Given the description of an element on the screen output the (x, y) to click on. 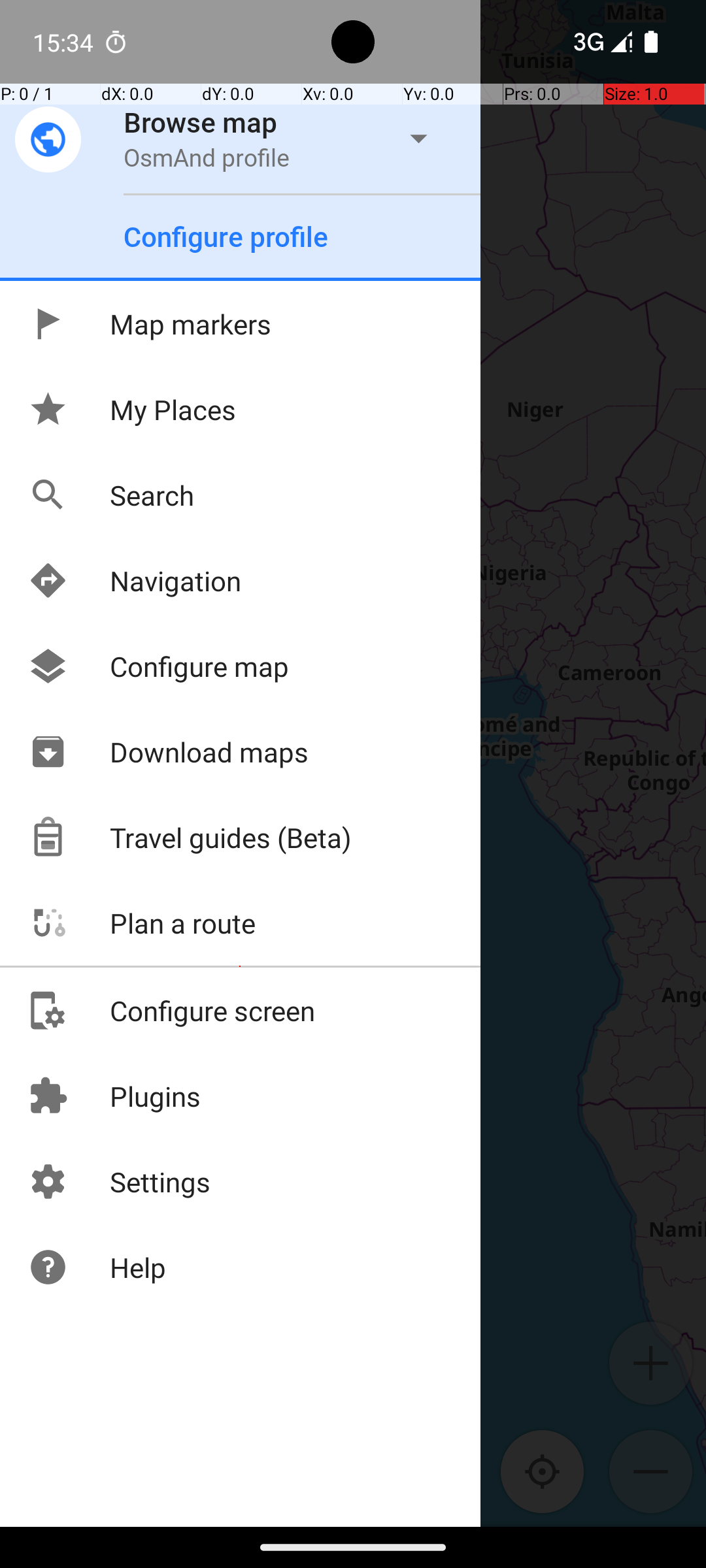
OsmAnd profile Element type: android.widget.TextView (206, 156)
Configure profile Element type: android.widget.TextView (225, 235)
Navigation Element type: android.widget.TextView (134, 580)
Download maps Element type: android.widget.TextView (168, 751)
Travel guides (Beta) Element type: android.widget.TextView (189, 837)
Plan a route Element type: android.widget.TextView (141, 922)
Configure screen Element type: android.widget.TextView (171, 1010)
Plugins Element type: android.widget.TextView (114, 1095)
